Given the description of an element on the screen output the (x, y) to click on. 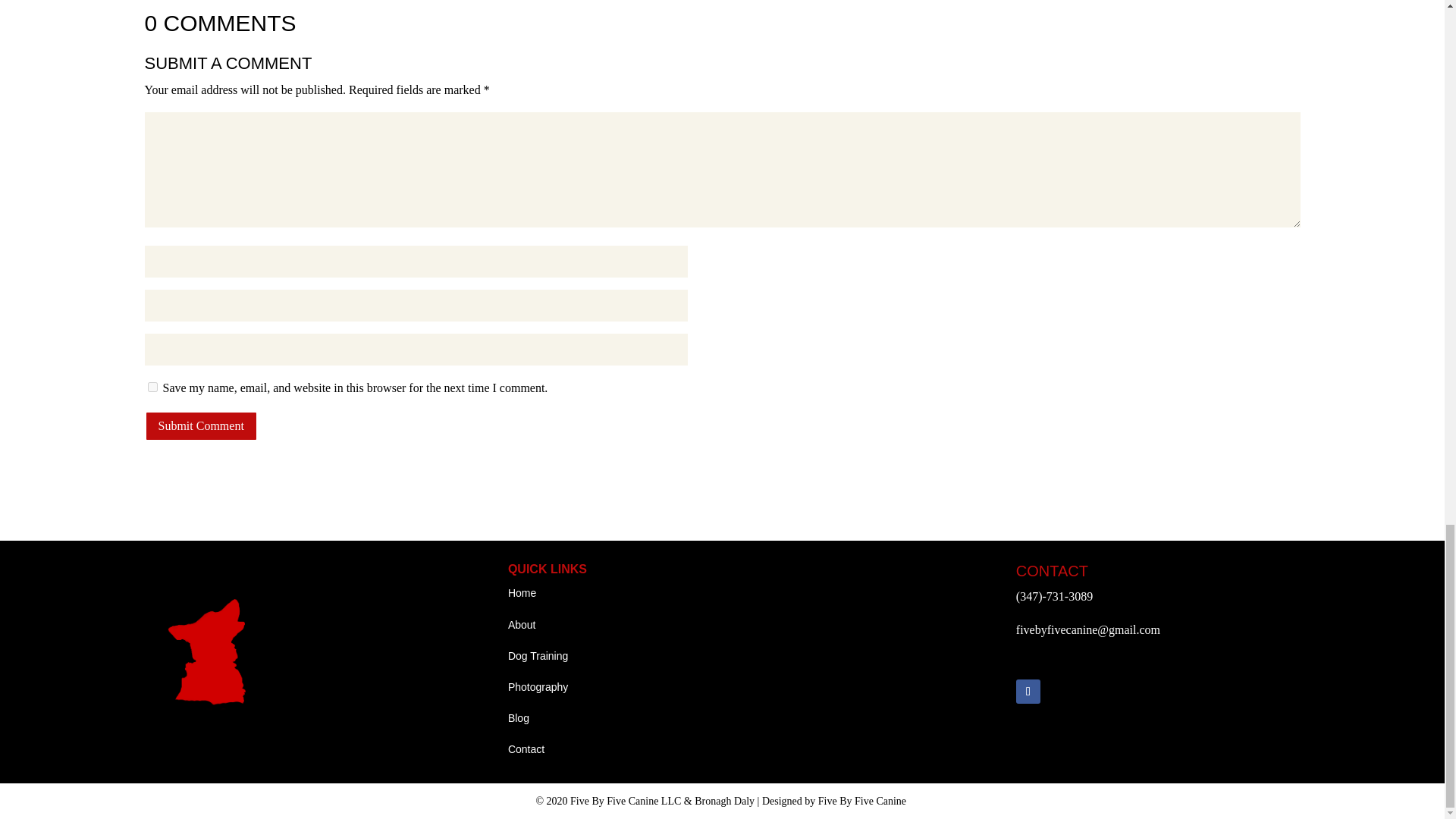
Follow on Facebook (1028, 691)
yes (152, 387)
